Given the description of an element on the screen output the (x, y) to click on. 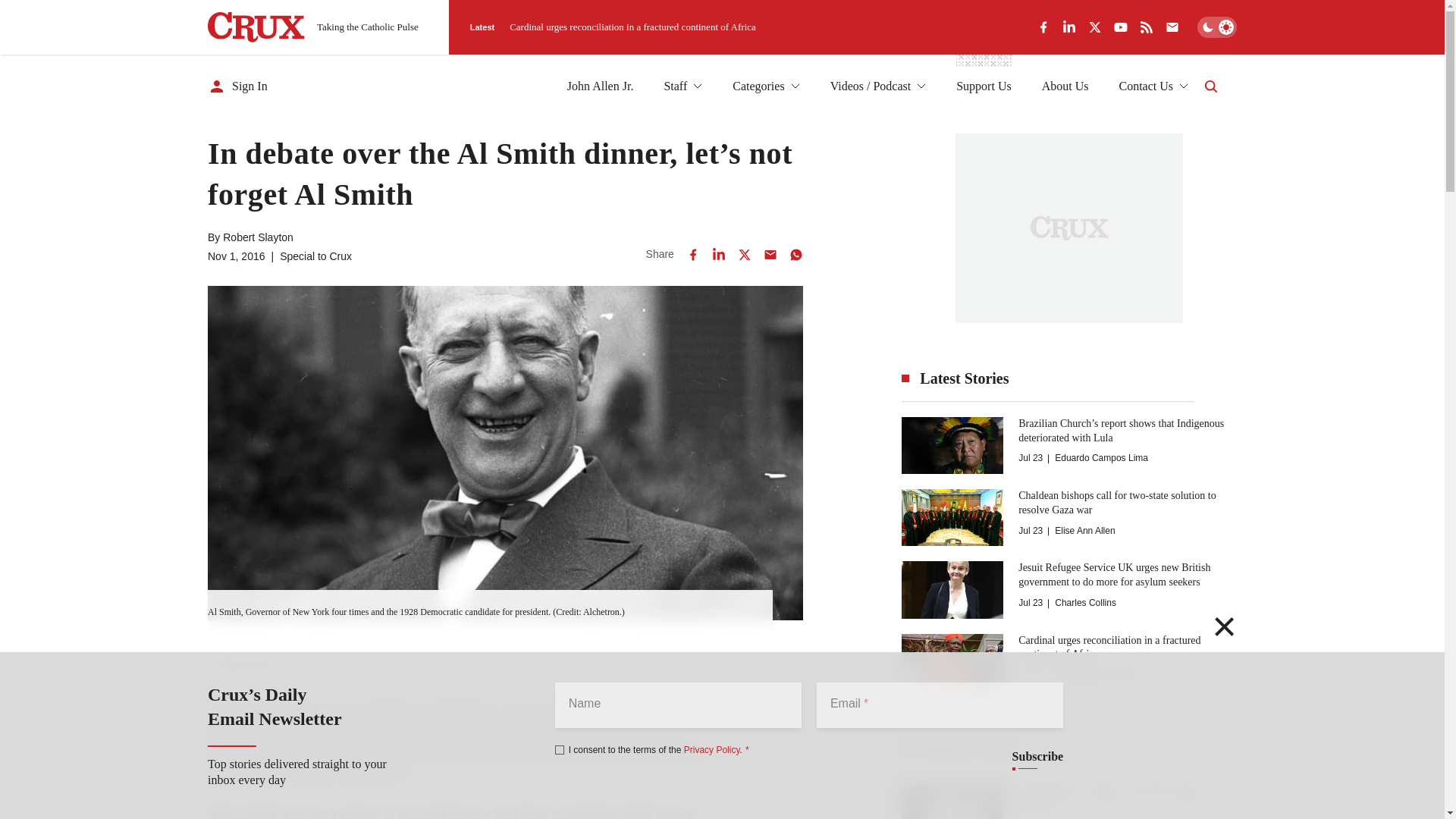
Sign In (237, 85)
John Allen Jr. (600, 85)
Categories (765, 85)
true (559, 749)
Subscribe (1037, 756)
Privacy Policy (711, 749)
Support Us (983, 85)
Staff (682, 85)
